Given the description of an element on the screen output the (x, y) to click on. 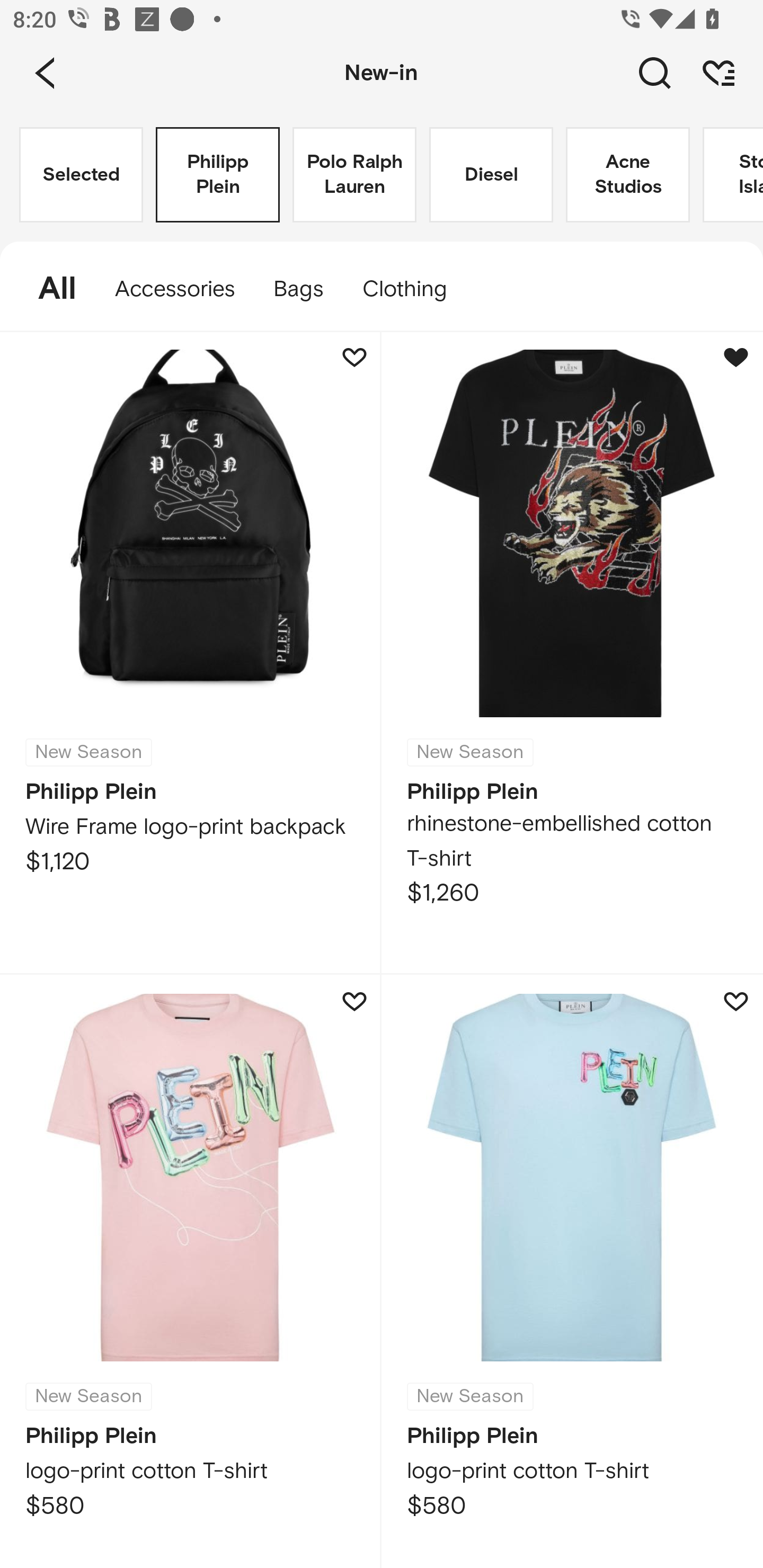
Selected (81, 174)
Philipp Plein (217, 174)
Polo Ralph Lauren (354, 174)
Diesel (490, 174)
Acne Studios (627, 174)
All (47, 288)
Accessories (174, 288)
Bags (298, 288)
Clothing (413, 288)
